Given the description of an element on the screen output the (x, y) to click on. 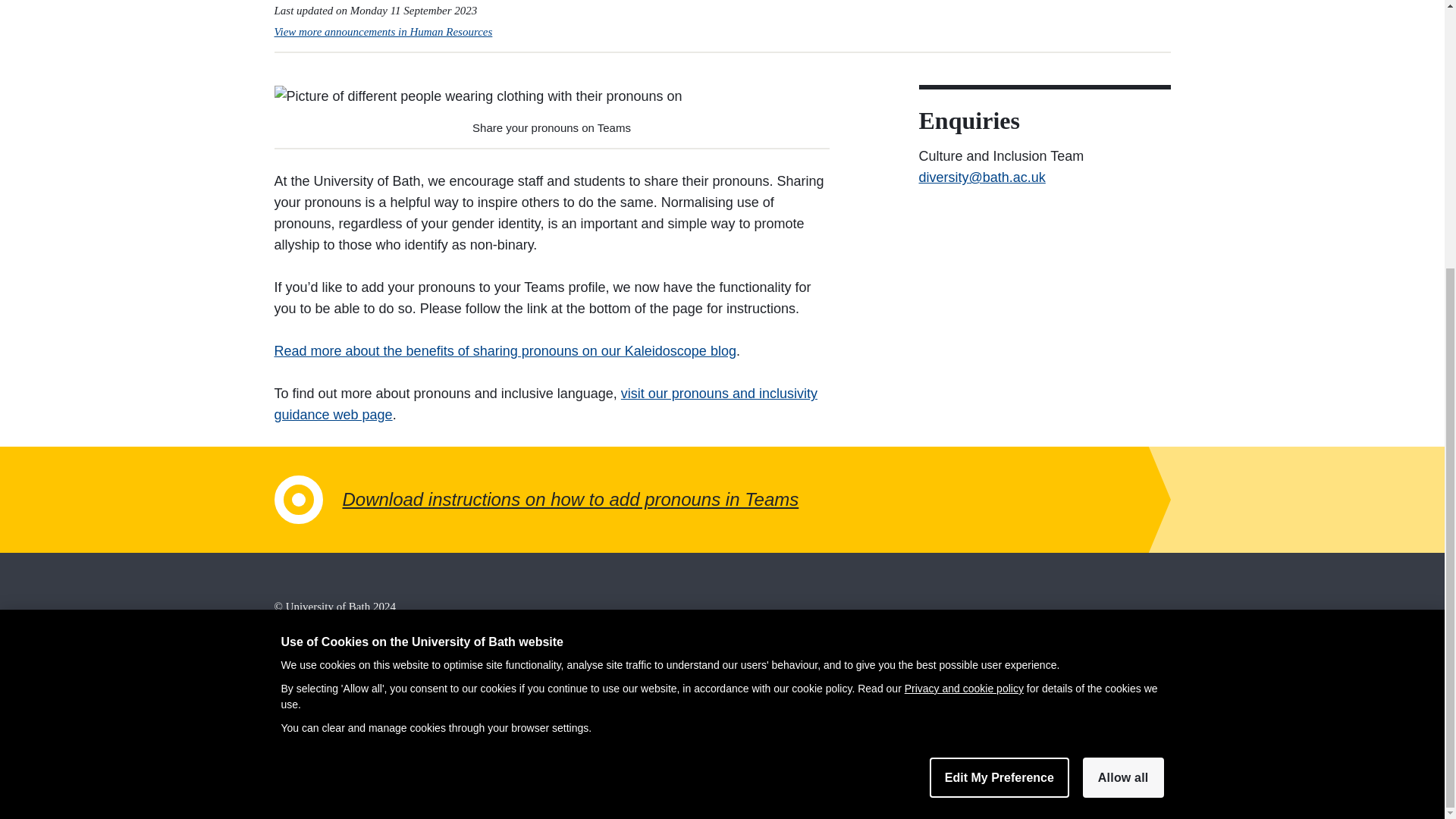
Disclaimer (299, 659)
Allow all (1123, 387)
Transparency information (334, 744)
View more announcements in Human Resources (384, 31)
Edit My Preference (999, 387)
Privacy and cookie policy (963, 298)
Download instructions on how to add pronouns in Teams (722, 499)
Website accessibility statement (345, 766)
Freedom of information (329, 680)
